Given the description of an element on the screen output the (x, y) to click on. 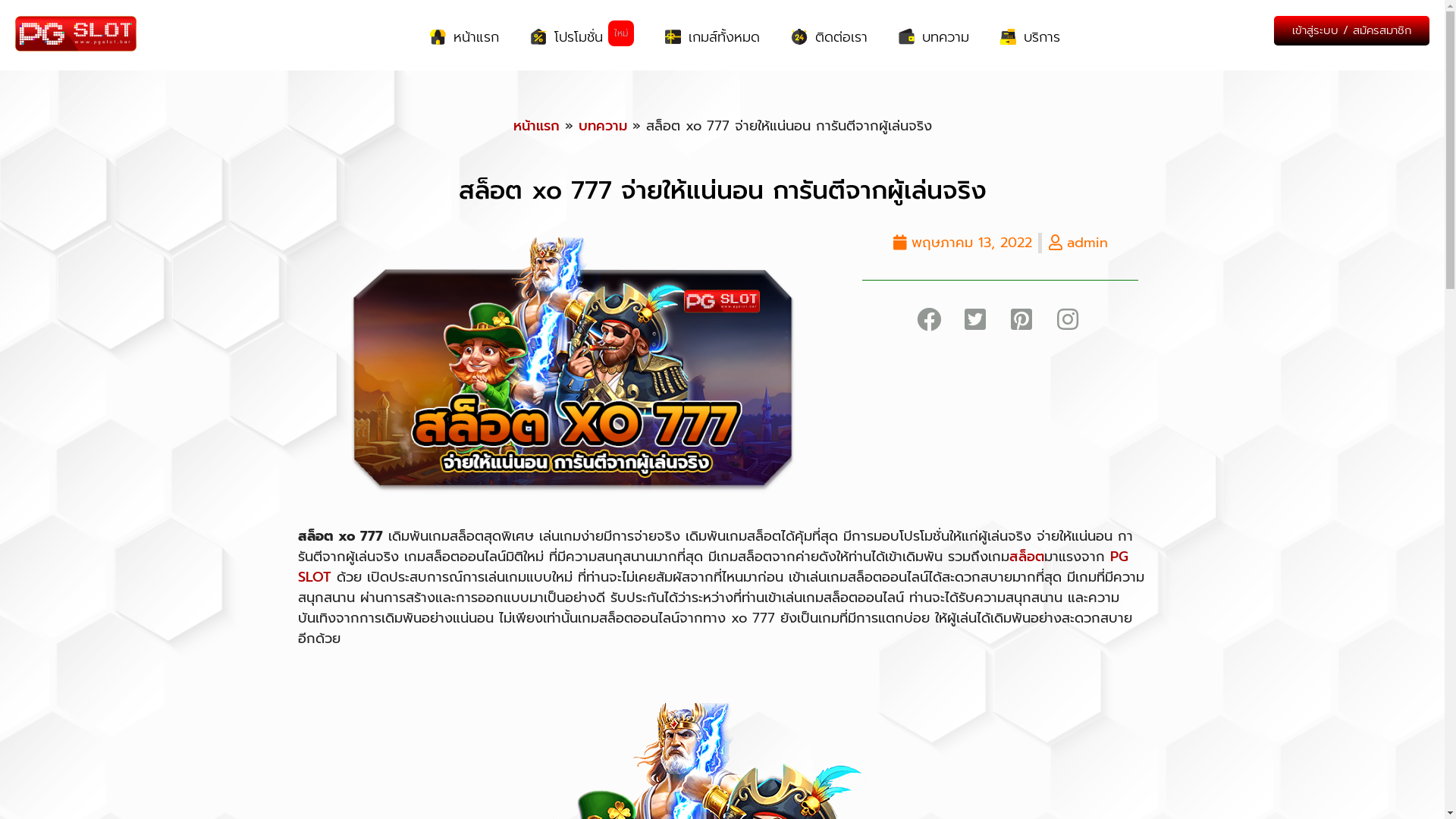
PG SLOT Element type: text (712, 566)
